Given the description of an element on the screen output the (x, y) to click on. 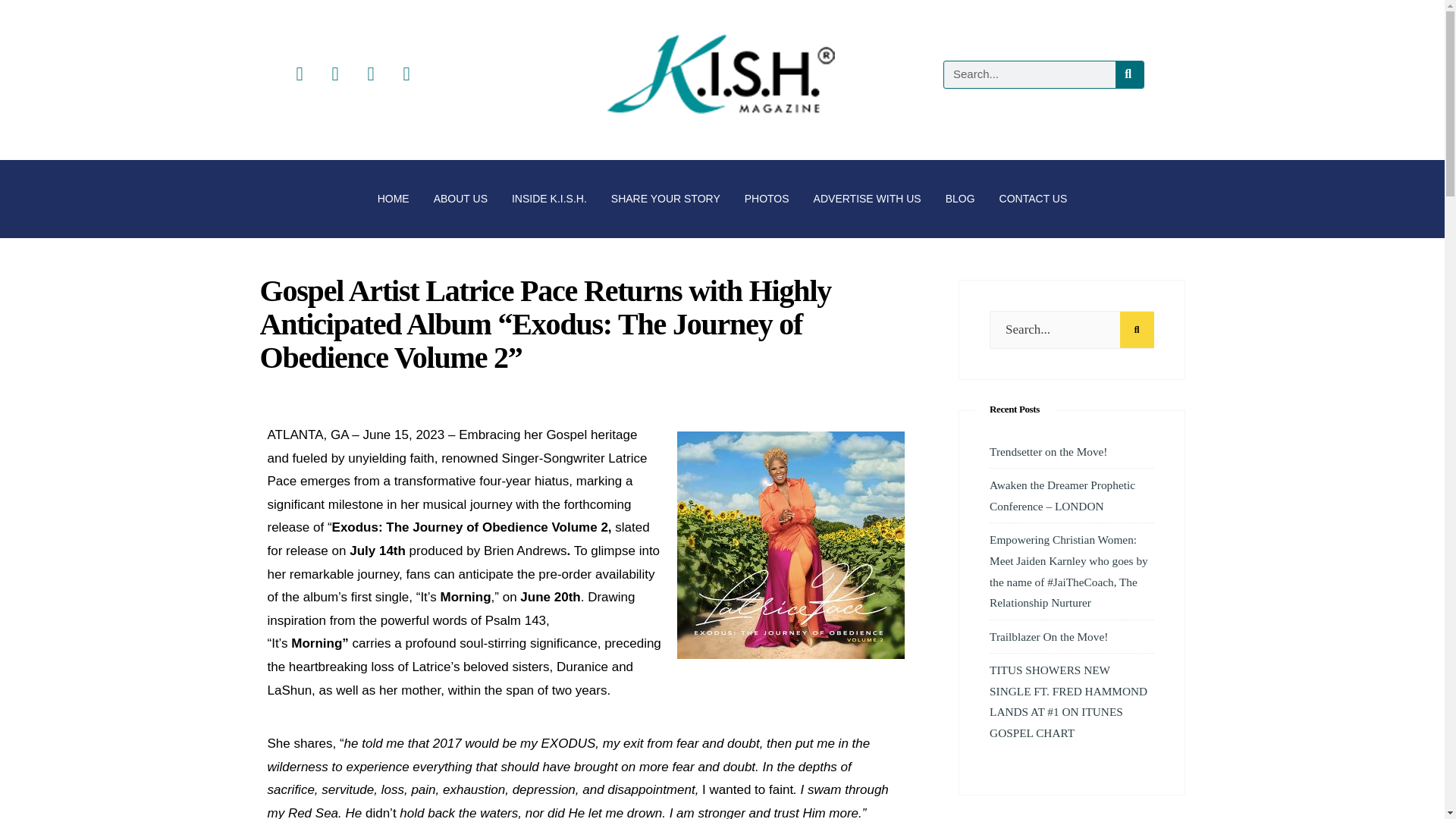
SHARE YOUR STORY (665, 198)
ADVERTISE WITH US (867, 198)
Search... (1071, 329)
ABOUT US (460, 198)
CONTACT US (1033, 198)
INSIDE K.I.S.H. (548, 198)
